Given the description of an element on the screen output the (x, y) to click on. 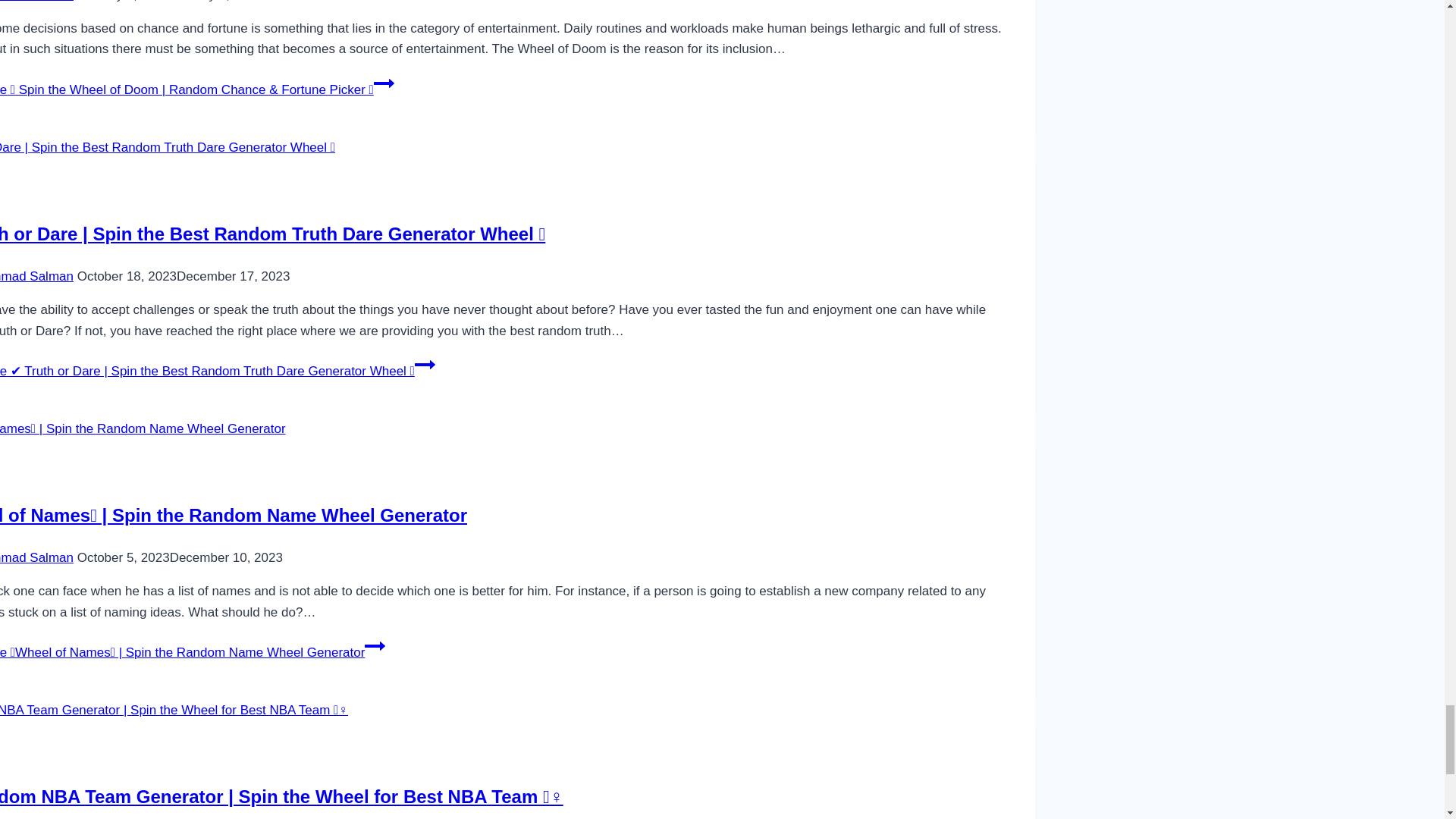
Continue (384, 83)
Continue (424, 364)
Continue (375, 645)
